Given the description of an element on the screen output the (x, y) to click on. 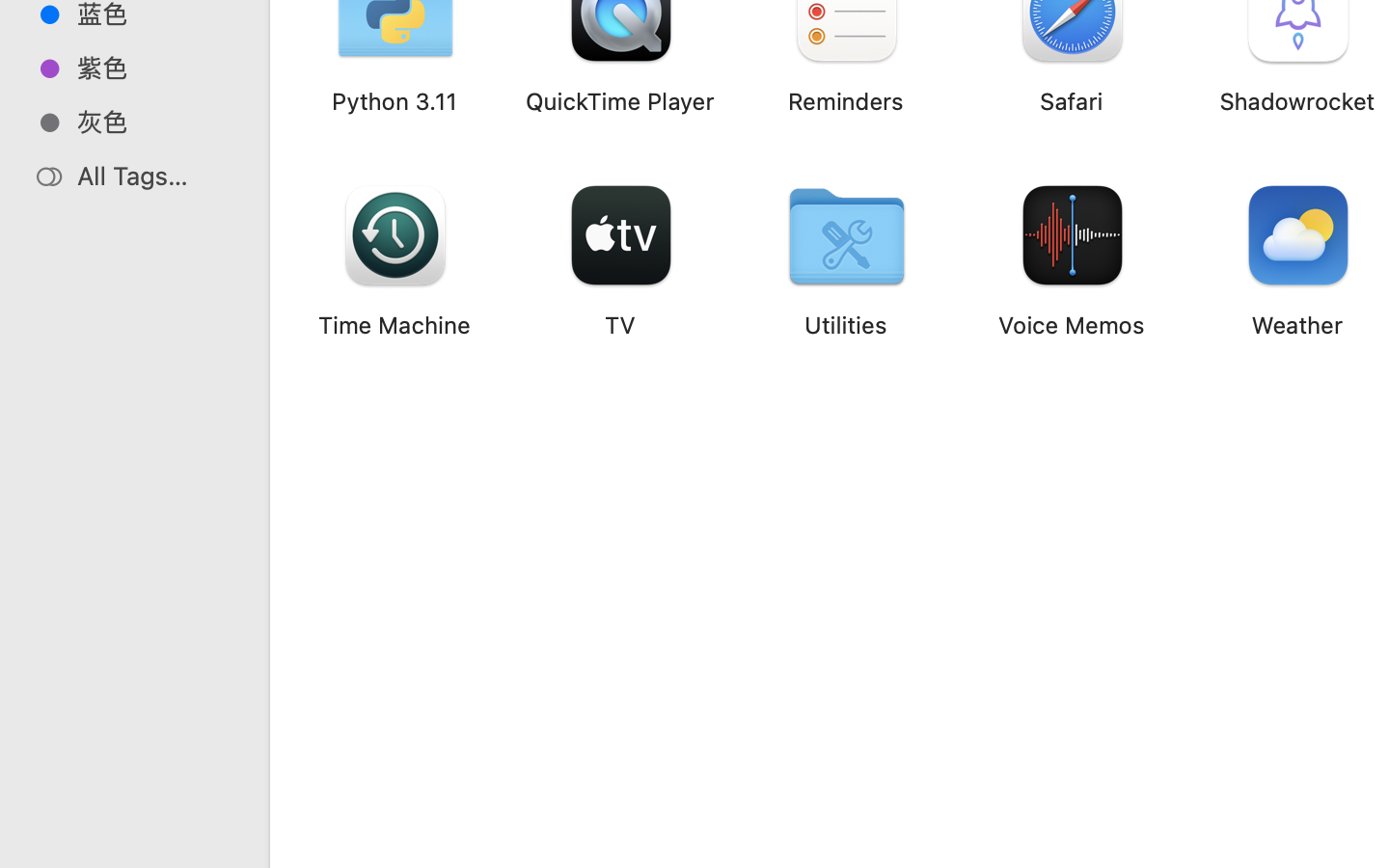
Tags… Element type: AXStaticText (41, 852)
Applications Element type: AXStaticText (875, 786)
0 Element type: AXRadioButton (23, 846)
All Tags… Element type: AXStaticText (155, 175)
灰色 Element type: AXStaticText (155, 121)
